Given the description of an element on the screen output the (x, y) to click on. 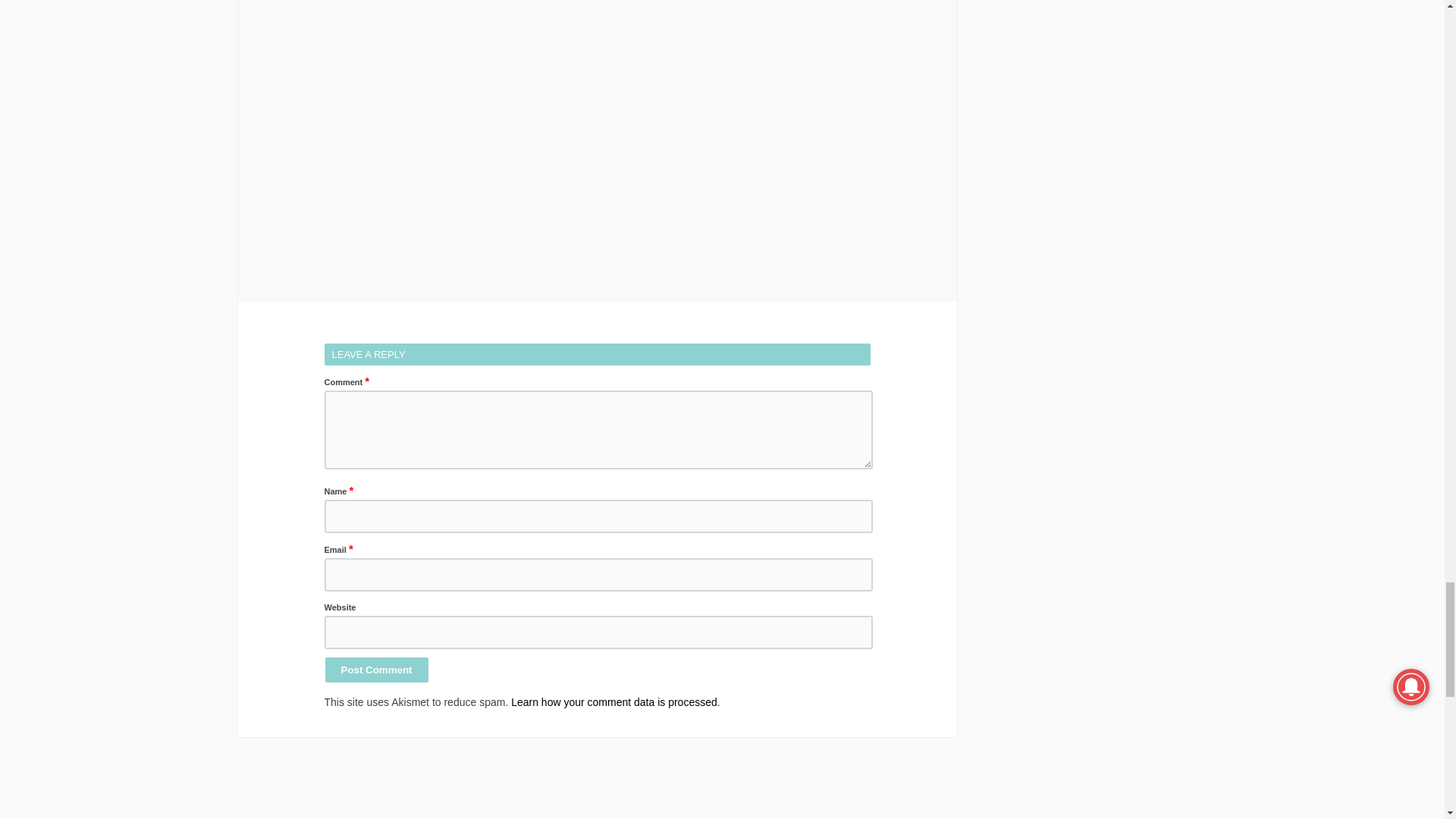
Post Comment (376, 669)
